Given the description of an element on the screen output the (x, y) to click on. 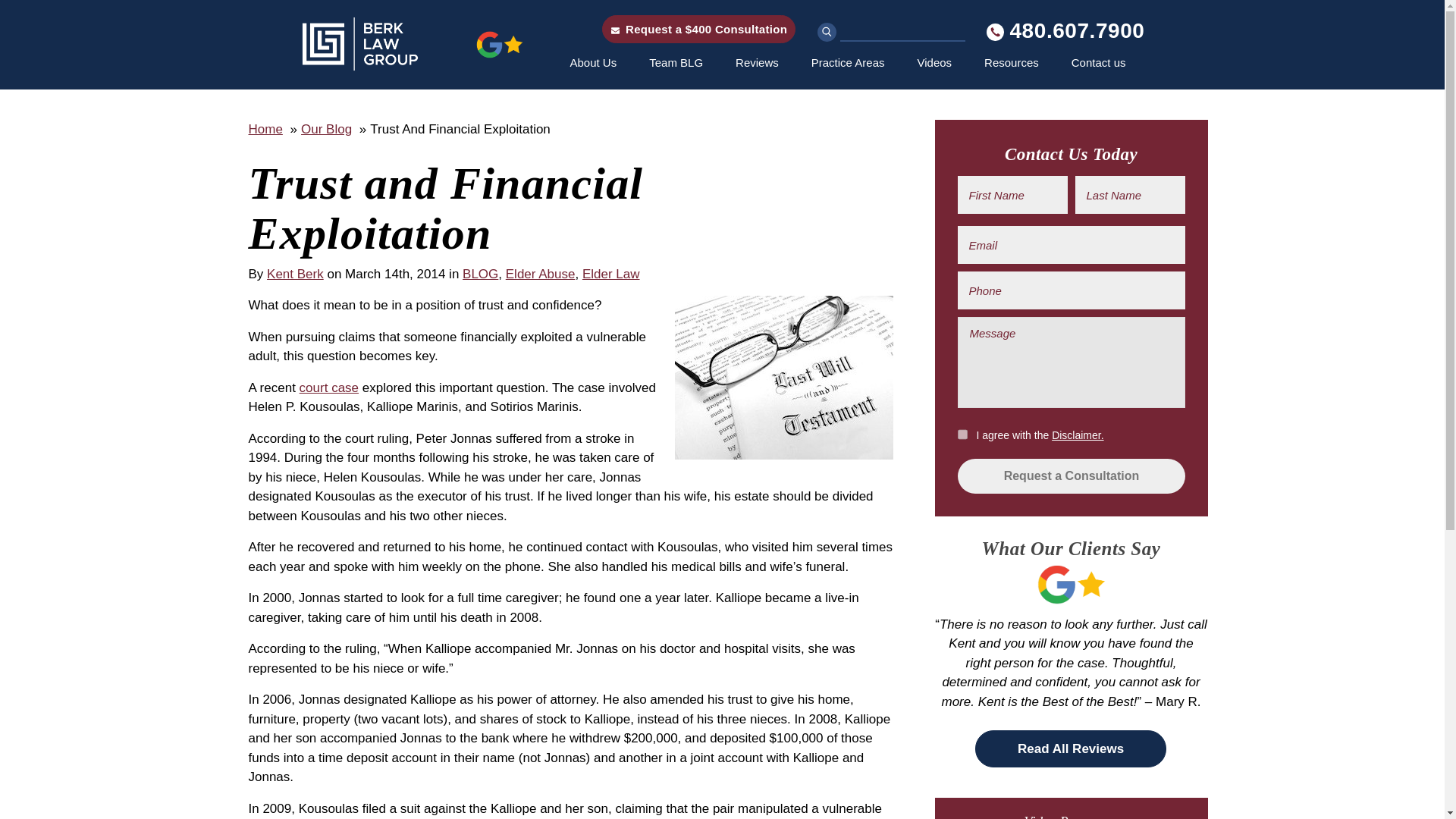
480.607.7900 (1065, 30)
Reviews (759, 62)
Request a Consultation (1070, 475)
Team BLG (678, 62)
Search (825, 31)
Posts by Kent Berk (294, 273)
About Us (596, 62)
Berk Law Group (413, 43)
Search (825, 31)
1 (961, 434)
Search (825, 31)
